Given the description of an element on the screen output the (x, y) to click on. 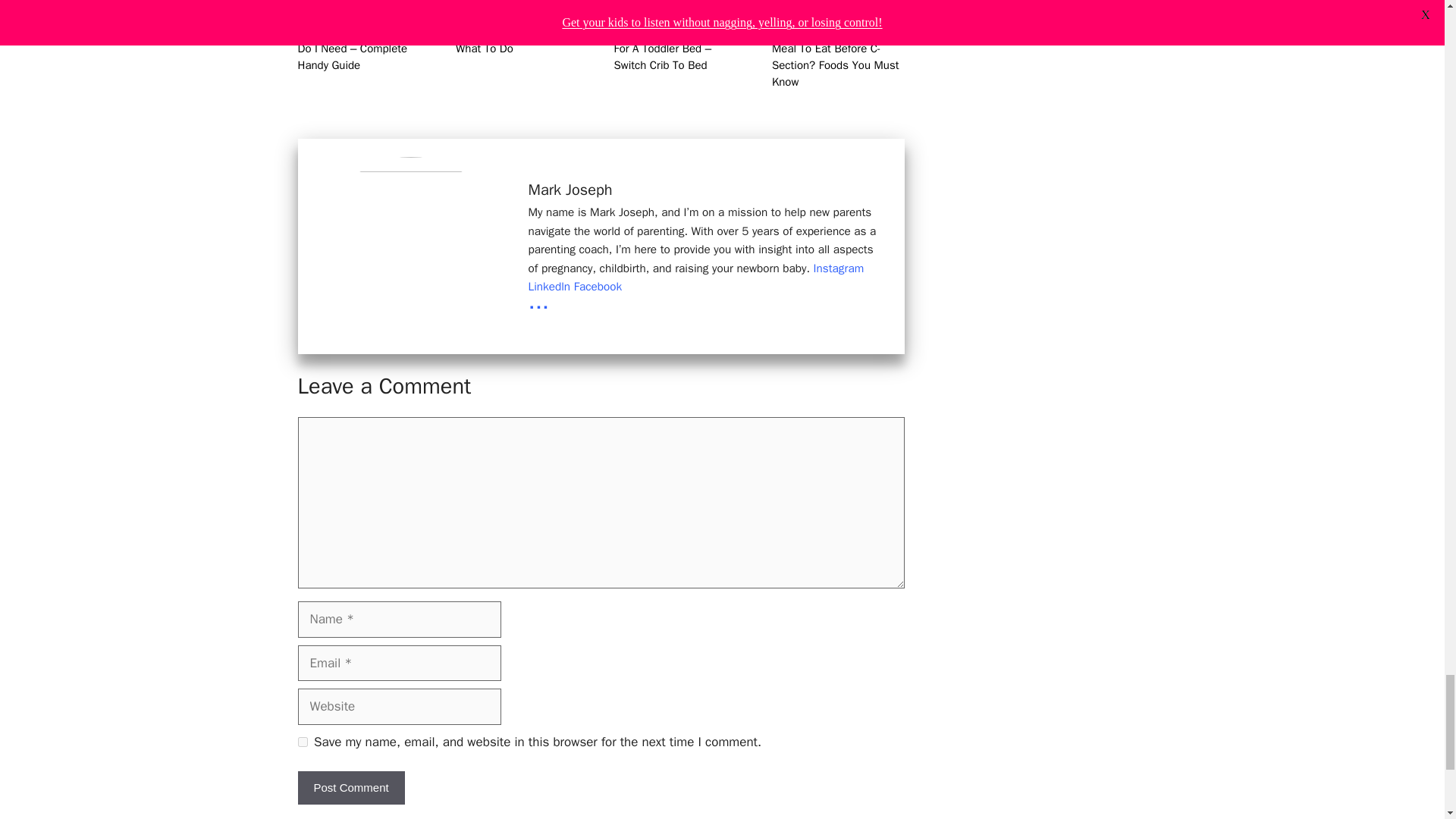
yes (302, 741)
Post Comment (350, 788)
